Given the description of an element on the screen output the (x, y) to click on. 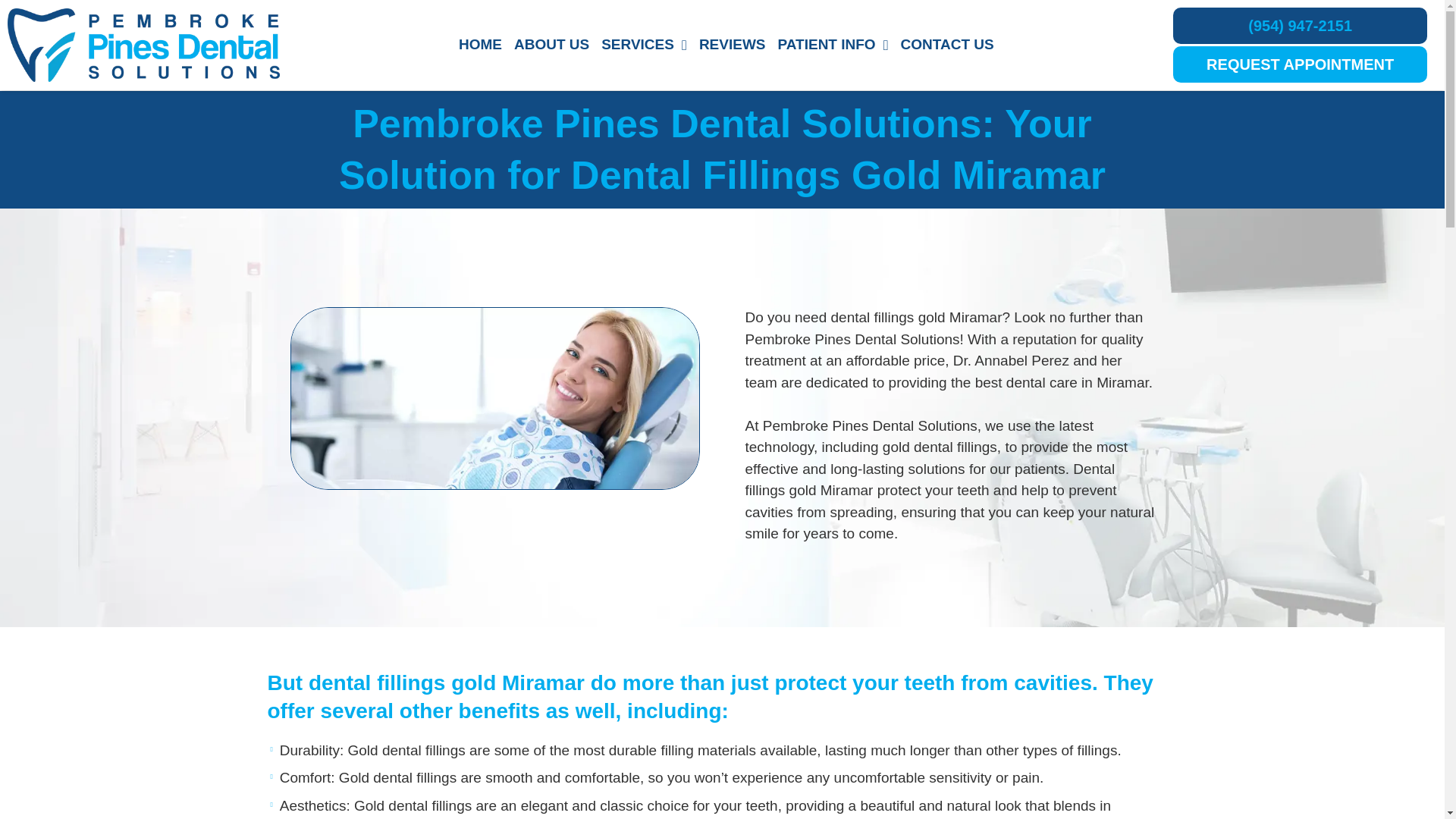
REVIEWS (732, 44)
ABOUT US (551, 44)
CONTACT US (947, 44)
SERVICES (644, 44)
pembroke-pines-logo (143, 45)
HOME (480, 44)
PATIENT INFO (833, 44)
